Given the description of an element on the screen output the (x, y) to click on. 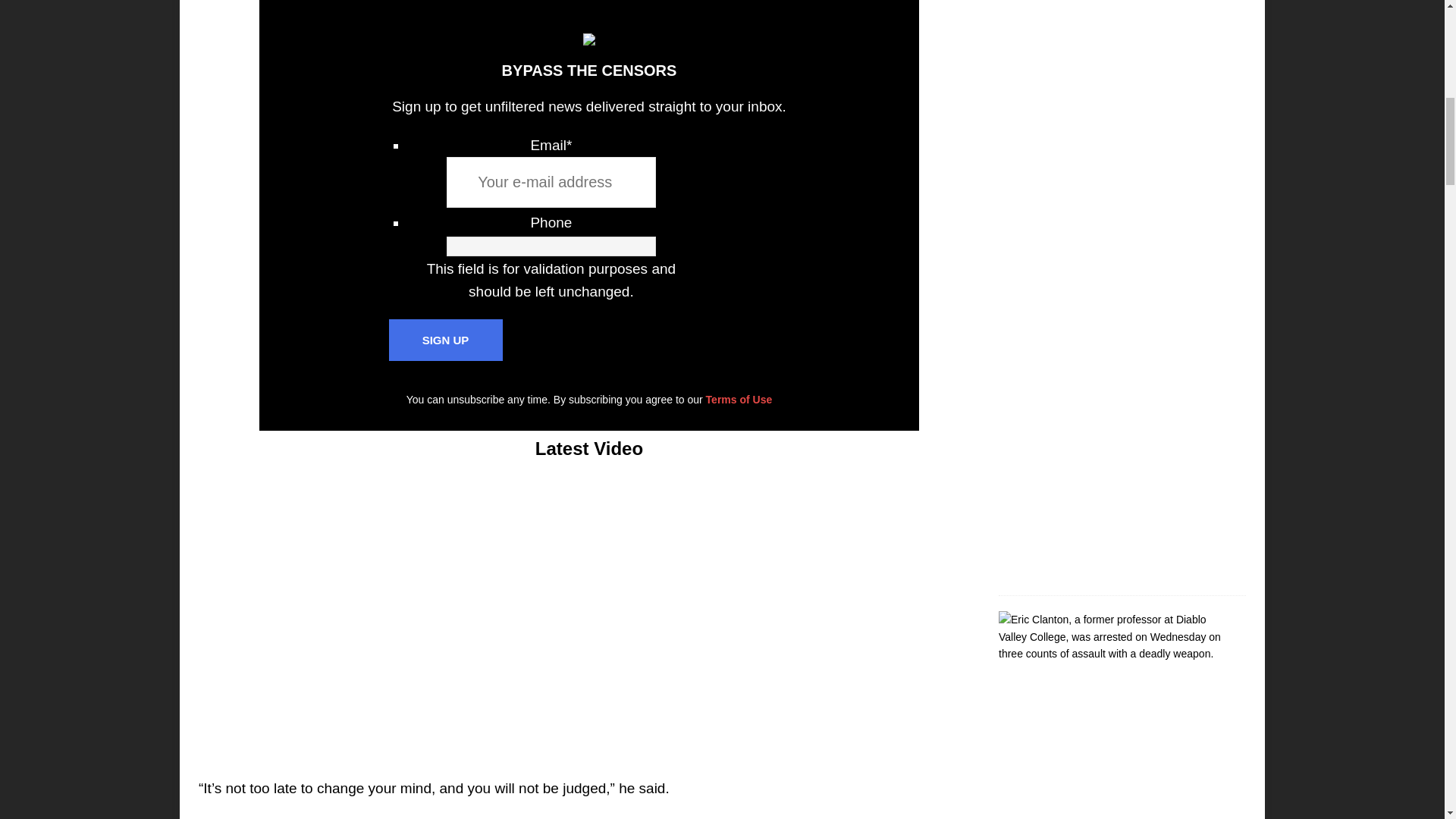
SIGN UP (445, 340)
